Given the description of an element on the screen output the (x, y) to click on. 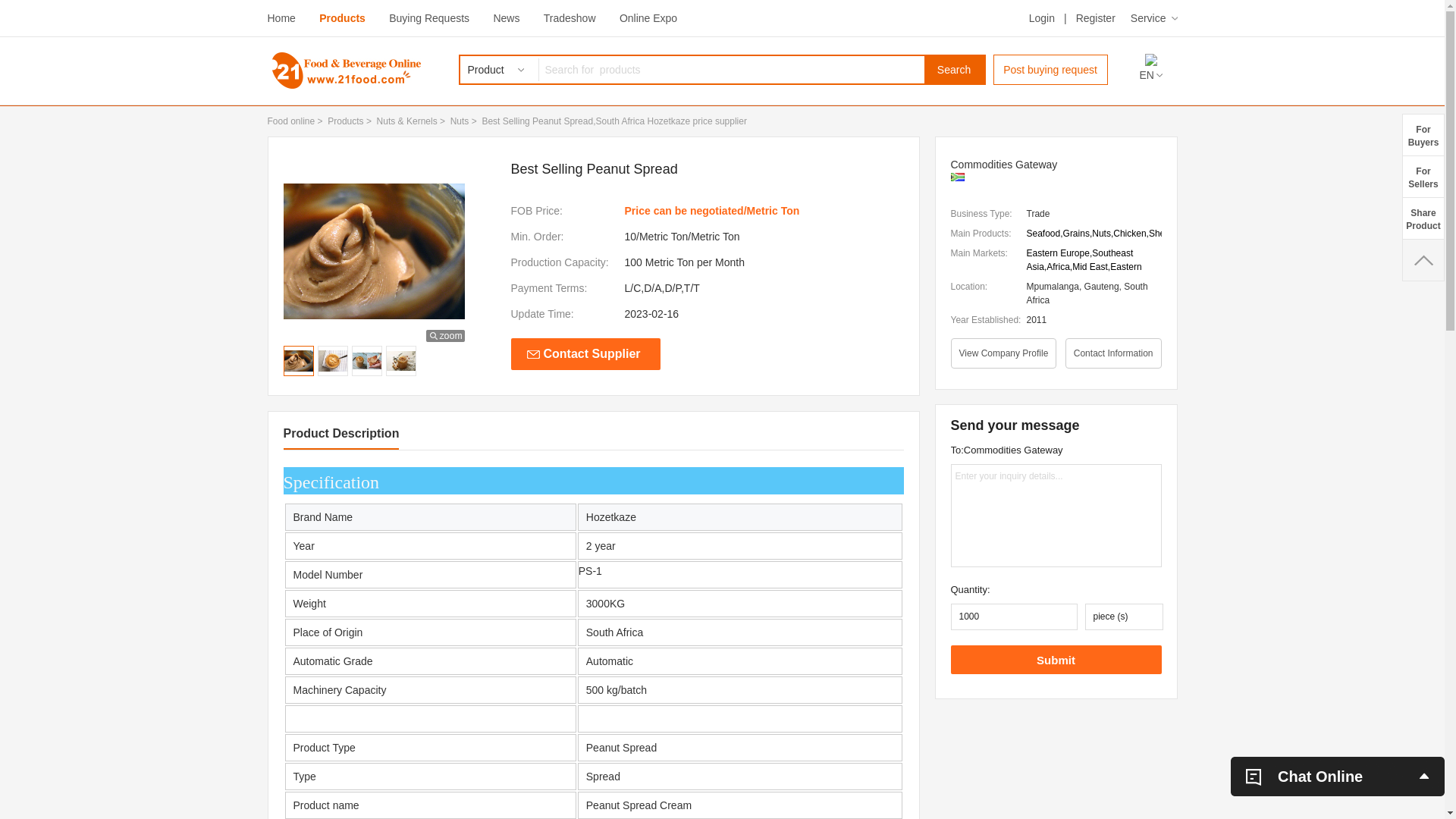
  Element type: text (1423, 259)
Online Expo Element type: text (648, 18)
News Element type: text (505, 18)
Search Element type: text (953, 69)
Post buying request Element type: text (1050, 69)
Login Element type: text (1041, 18)
Food online Element type: text (290, 121)
Home Element type: text (280, 18)
Nuts Element type: text (459, 121)
Products Element type: text (345, 121)
Contact Information Element type: text (1113, 353)
Register Element type: text (1095, 18)
Tradeshow Element type: text (569, 18)
EN Element type: text (1150, 74)
Contact Supplier Element type: text (585, 354)
Share
Product Element type: text (1423, 217)
For
Sellers Element type: text (1423, 176)
Commodities Gateway Element type: text (1055, 164)
Service Element type: text (1153, 18)
Nuts & Kernels Element type: text (406, 121)
South Africa Element type: hover (957, 176)
Submit Element type: text (1055, 659)
For
Buyers Element type: text (1423, 134)
Products Element type: text (342, 18)
Buying Requests Element type: text (429, 18)
View Company Profile Element type: text (1003, 353)
